Given the description of an element on the screen output the (x, y) to click on. 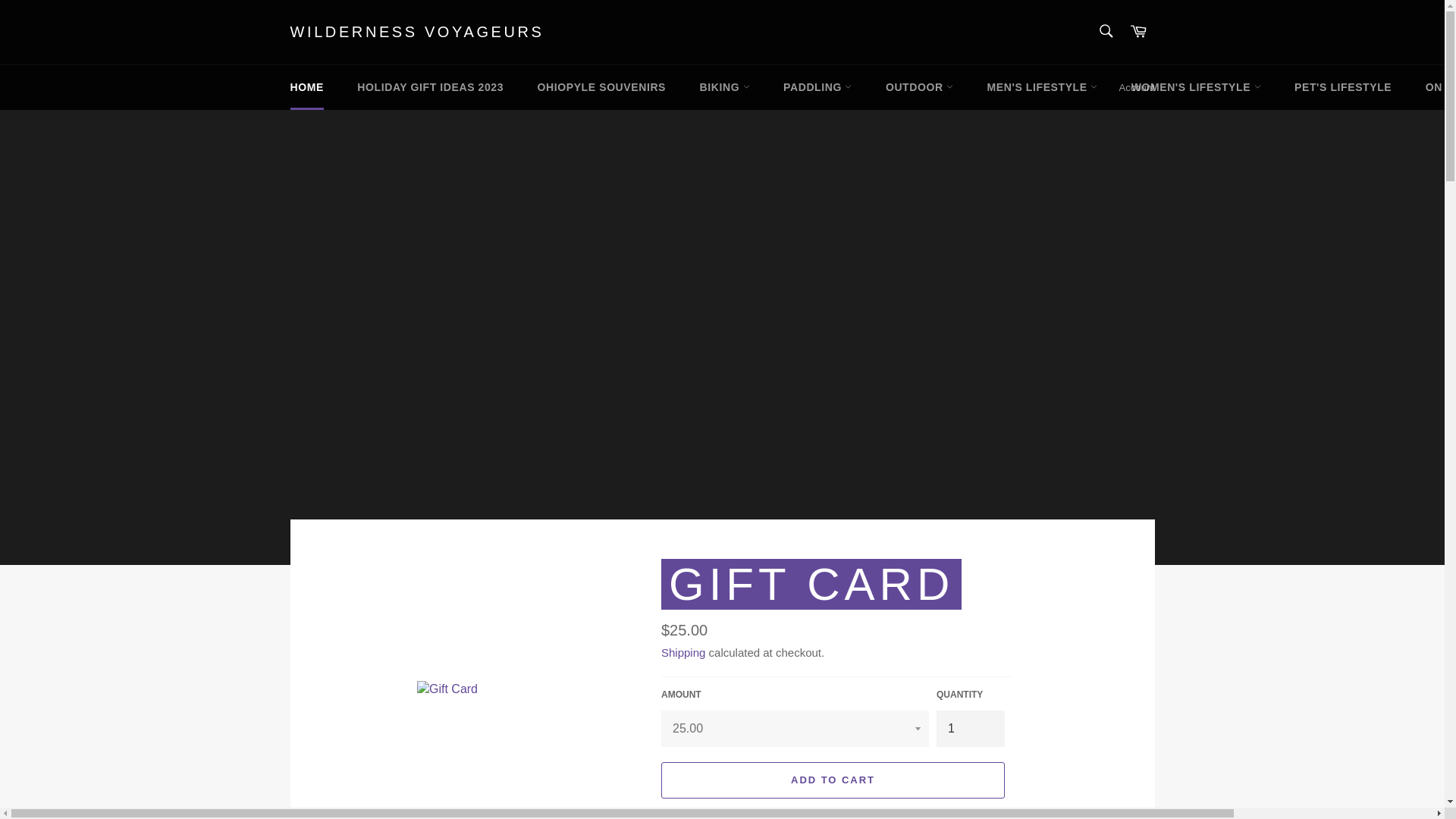
1 (970, 728)
